Given the description of an element on the screen output the (x, y) to click on. 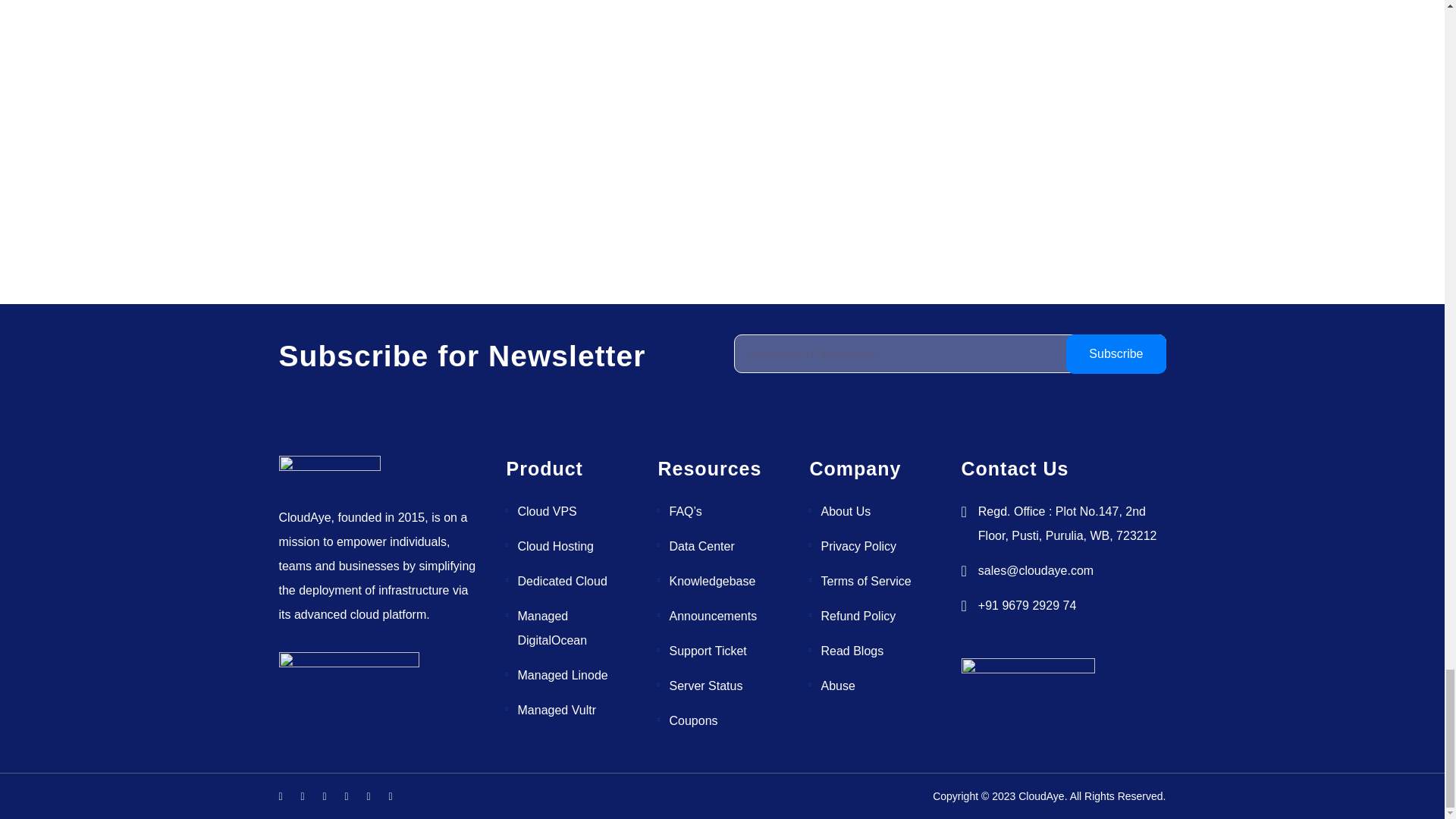
Subscribe (1115, 353)
